Given the description of an element on the screen output the (x, y) to click on. 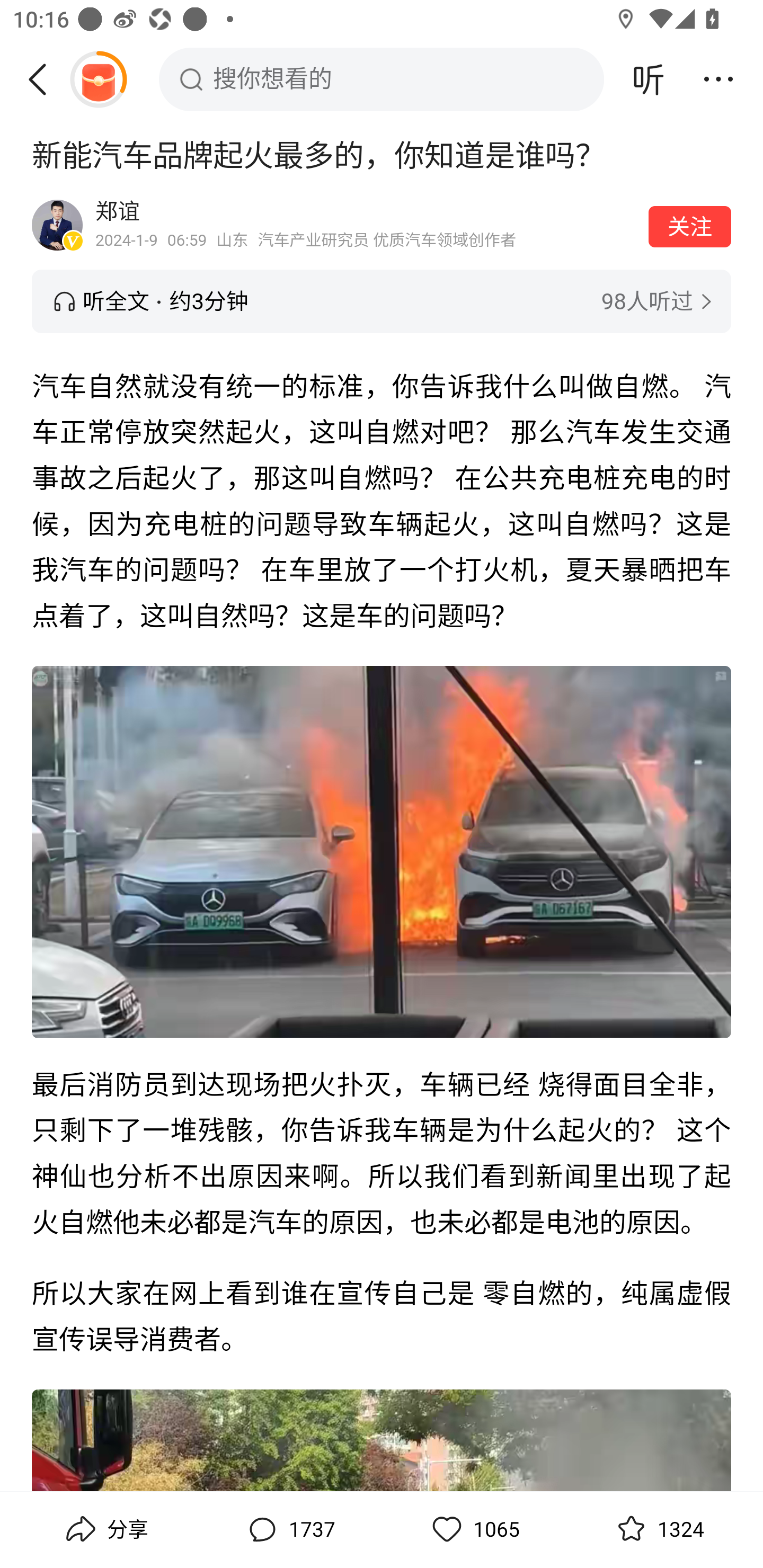
返回 (44, 78)
听头条 (648, 78)
更多操作 (718, 78)
搜你想看的 搜索框，搜你想看的 (381, 79)
阅读赚金币 (98, 79)
作者：郑谊，简介：汽车产业研究员 优质汽车领域创作者，2024-1-9 06:59发布，山东 (365, 224)
关注作者 (689, 226)
听全文 约3分钟 98人听过 (381, 300)
图片，点击识别内容 (381, 851)
分享 (104, 1529)
评论,1737 1737 (288, 1529)
收藏,1324 1324 (658, 1529)
